Given the description of an element on the screen output the (x, y) to click on. 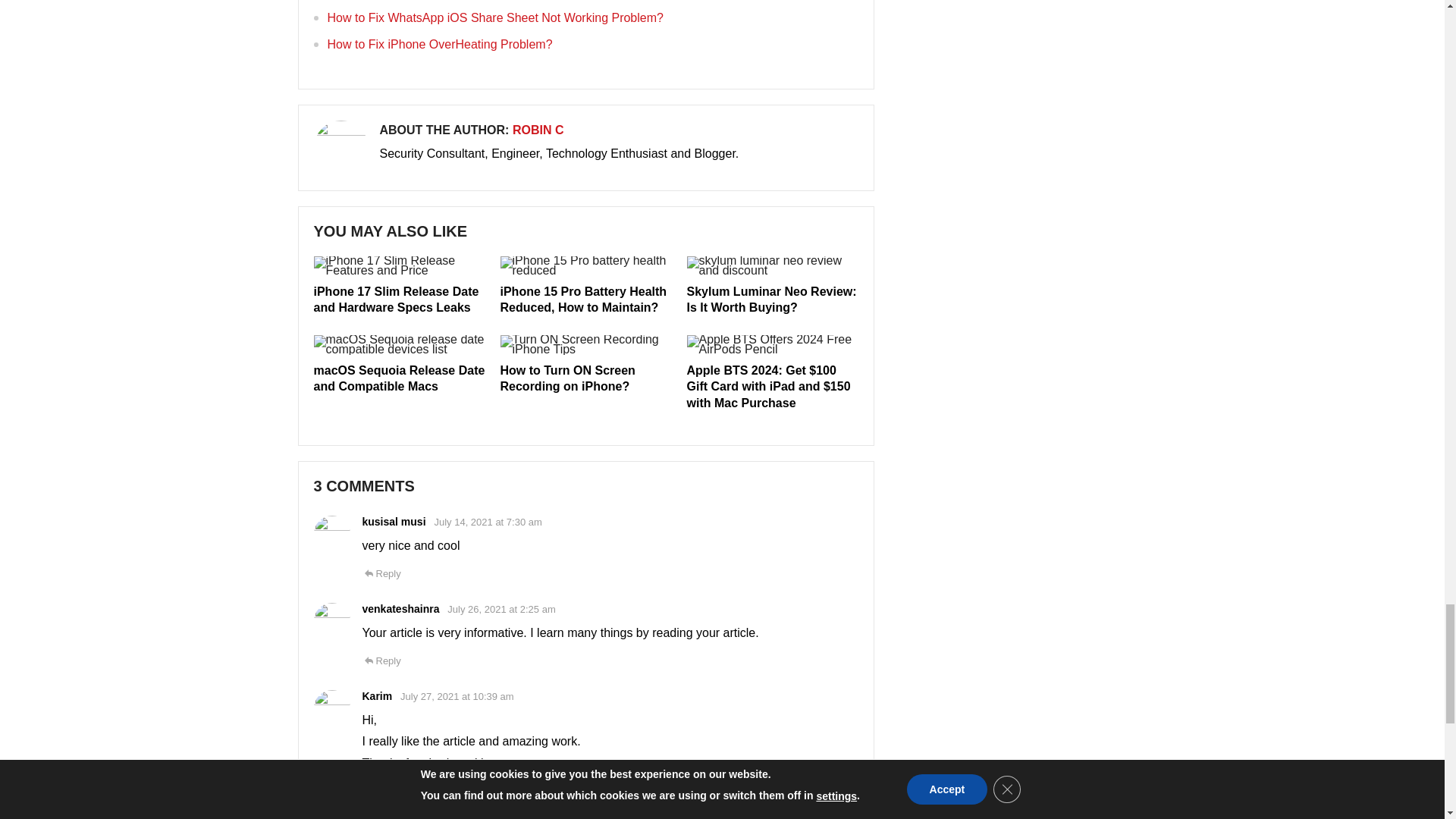
How to Fix iPhone OverHeating Problem? (440, 43)
ROBIN C (538, 129)
How to Fix WhatsApp iOS Share Sheet Not Working Problem? (495, 17)
